Given the description of an element on the screen output the (x, y) to click on. 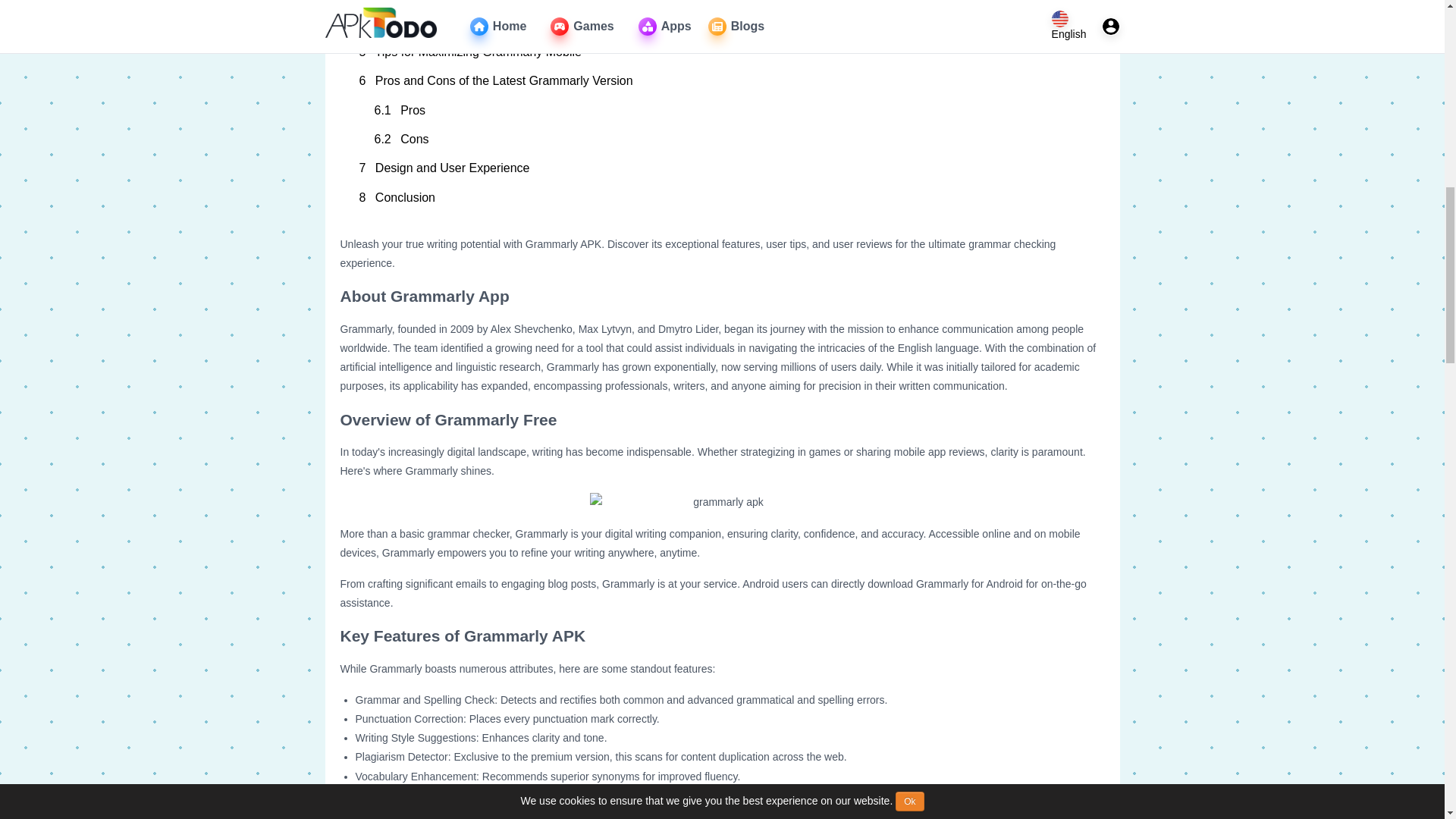
3 Overview of Grammarly Free (722, 4)
8 Conclusion (722, 197)
4 Key Features of Grammarly APK (722, 22)
6 Pros and Cons of the Latest Grammarly Version (722, 80)
7 Design and User Experience (722, 167)
6.1 Pros (730, 110)
5 Tips for Maximizing Grammarly Mobile (722, 51)
6.2 Cons (730, 139)
